Given the description of an element on the screen output the (x, y) to click on. 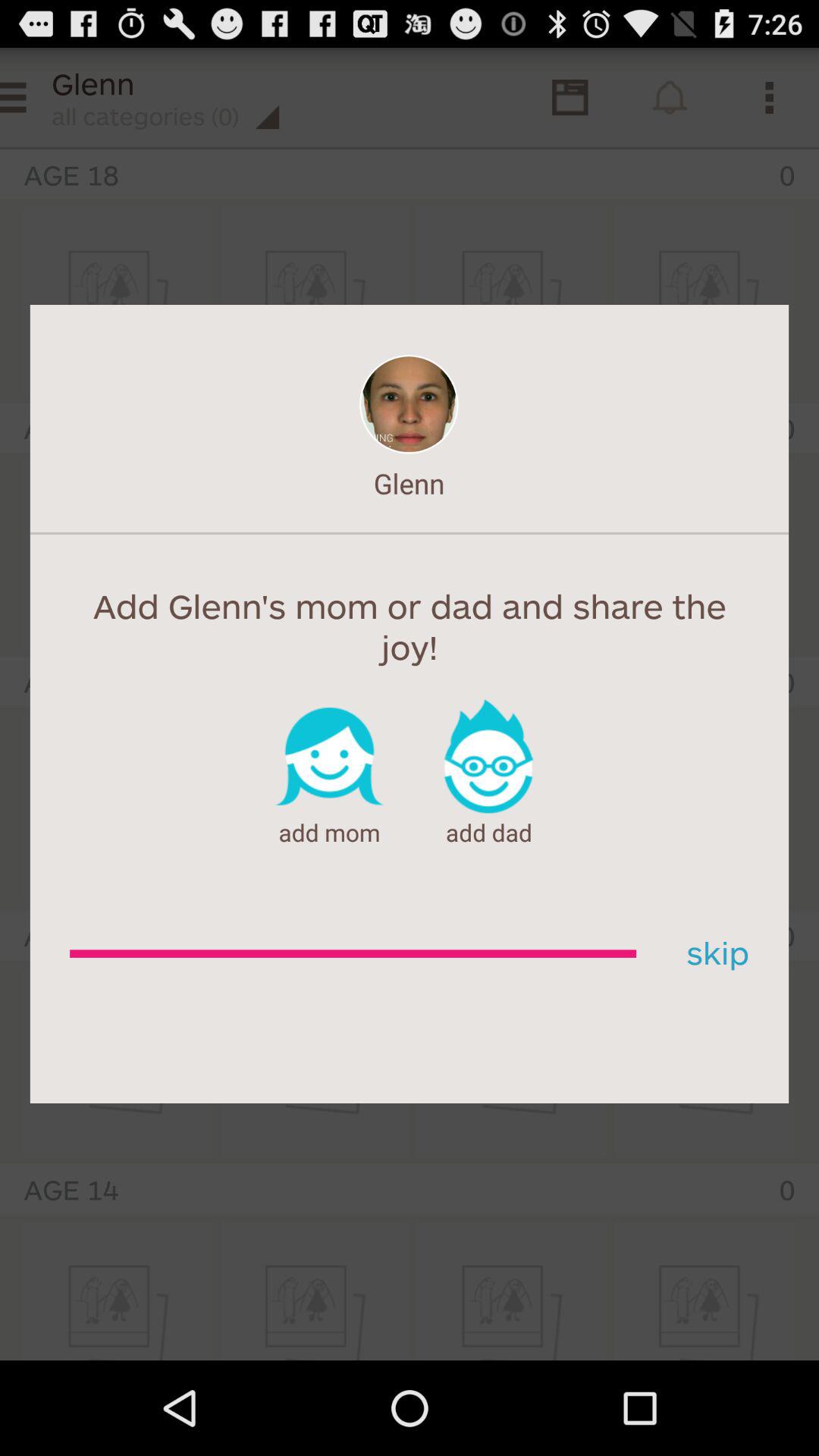
flip to skip app (712, 953)
